Given the description of an element on the screen output the (x, y) to click on. 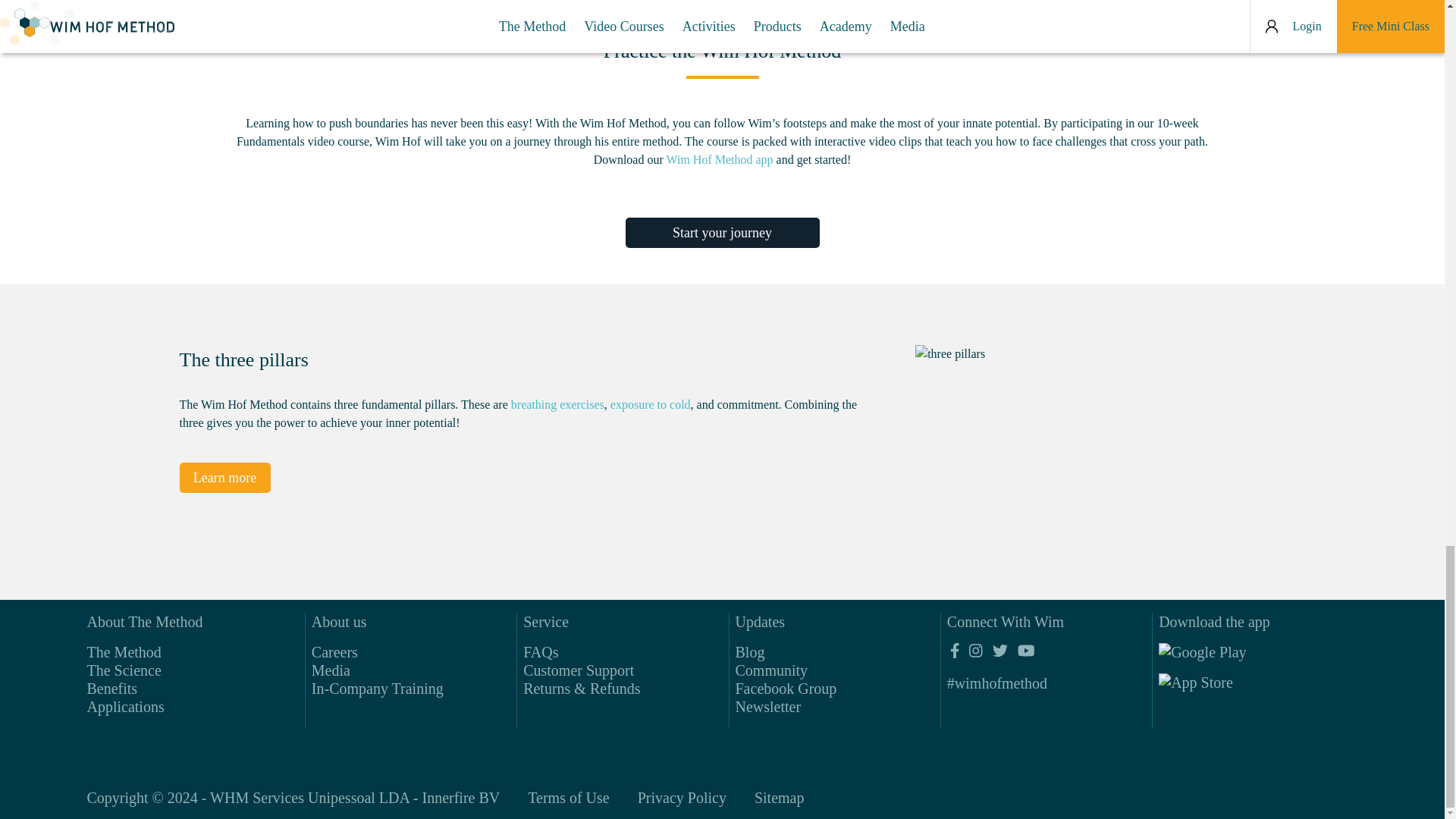
Start your journey (721, 232)
Follow The Wim Hof Method on Twitter (1000, 650)
Learn all about The Wim Hof Method on Youtube (1024, 650)
Learn more (224, 477)
Get The Wim Hof Method App on Google Play (1227, 654)
Download The Wim Hof Method App on the App Store (1227, 685)
Like The Wim Hof Method on Facebook (954, 650)
See who is already inspired by The Wim Hof Method (996, 682)
The three pillars (1082, 441)
Follow The Wim Hof Method on Instagram (975, 650)
